Given the description of an element on the screen output the (x, y) to click on. 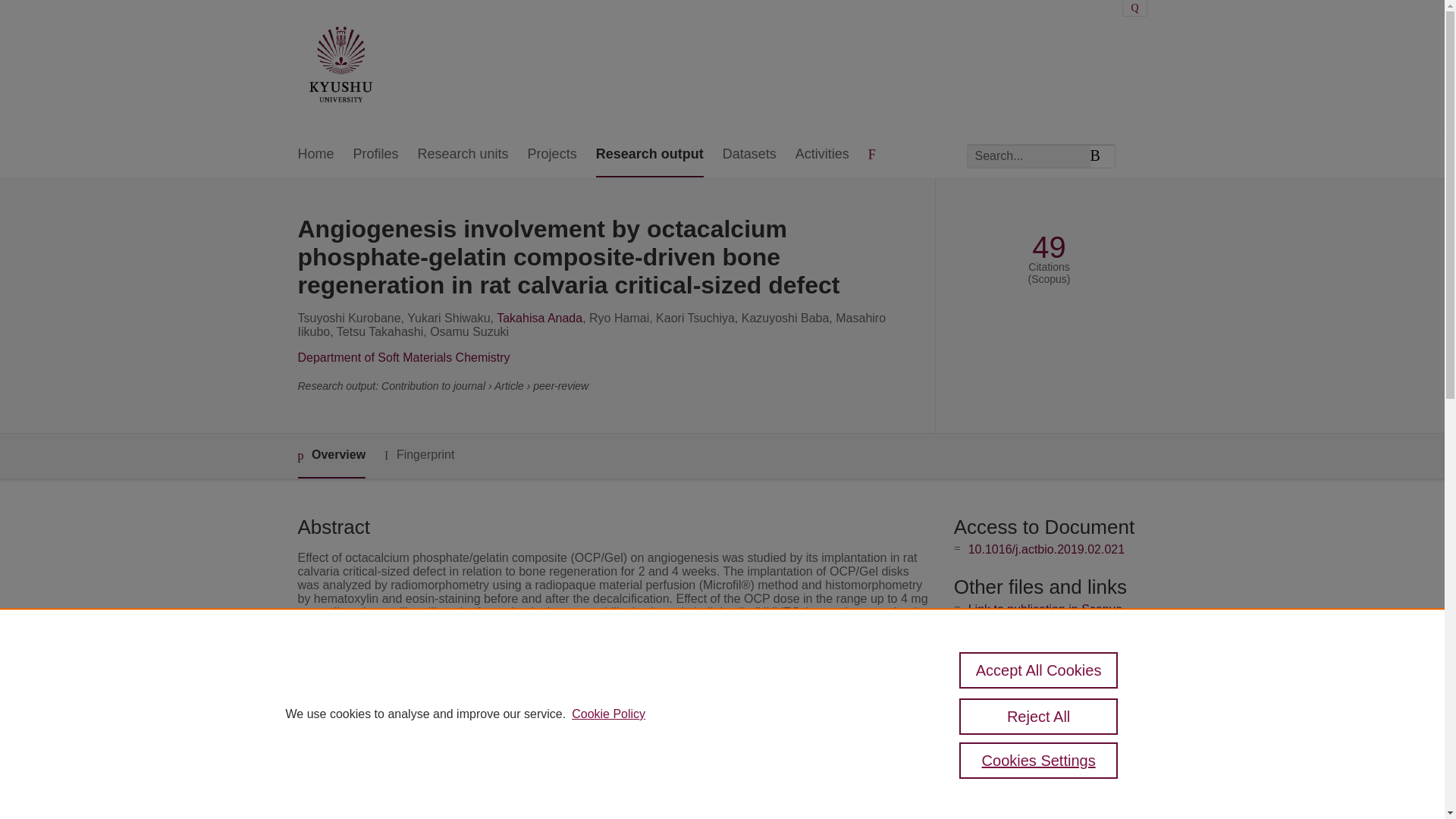
Department of Soft Materials Chemistry (403, 357)
Fingerprint (419, 455)
Activities (821, 154)
Takahisa Anada (539, 318)
Research output (649, 154)
Link to the citations in Scopus (1048, 634)
Link to publication in Scopus (1045, 608)
49 (1048, 247)
Profiles (375, 154)
Overview (331, 456)
Datasets (749, 154)
Research units (462, 154)
Projects (551, 154)
